Given the description of an element on the screen output the (x, y) to click on. 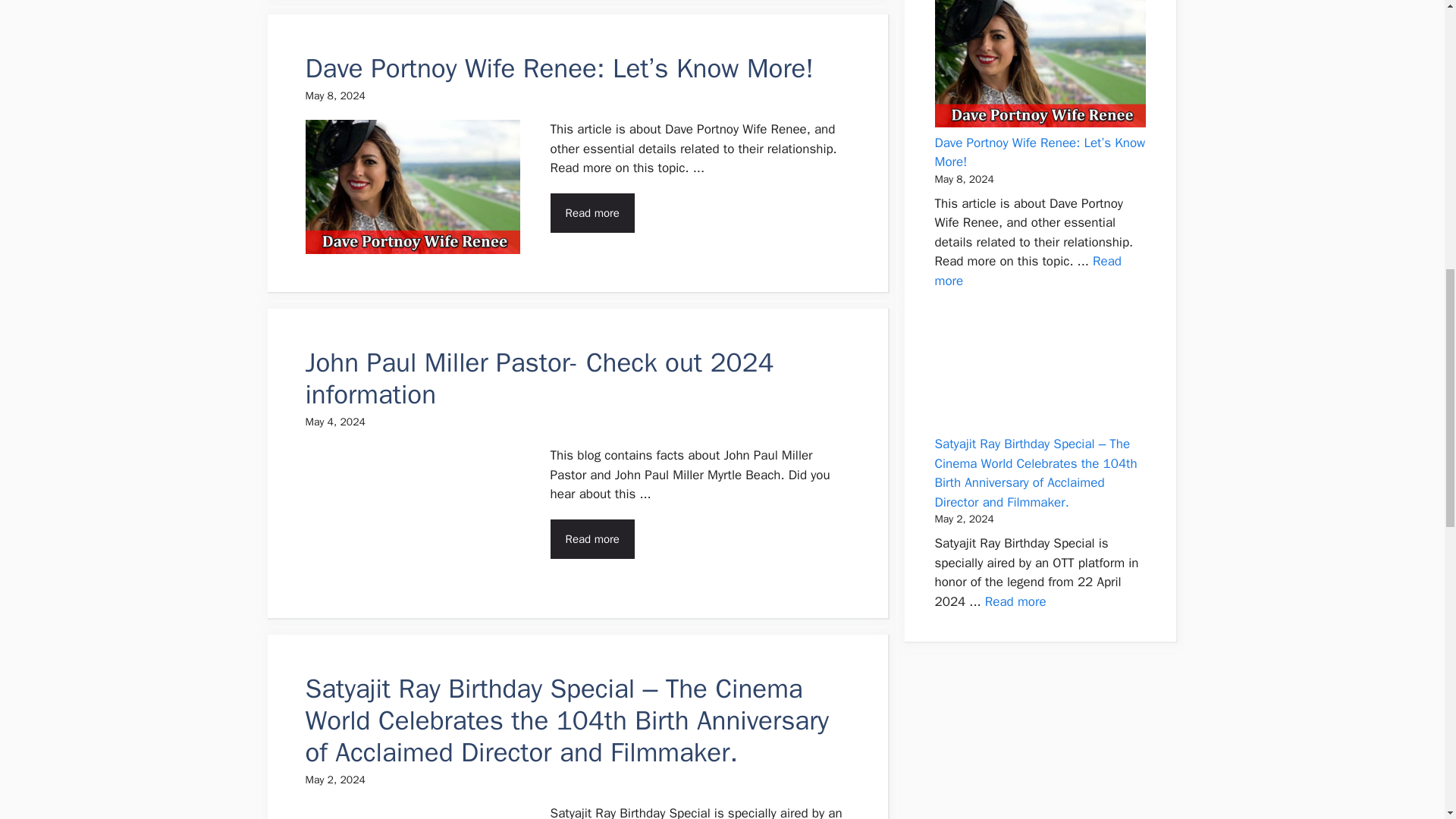
Read more (1015, 601)
John Paul Miller Pastor- Check out 2024 information (538, 378)
Read more (592, 539)
Read more (1027, 271)
Read more (592, 213)
